Given the description of an element on the screen output the (x, y) to click on. 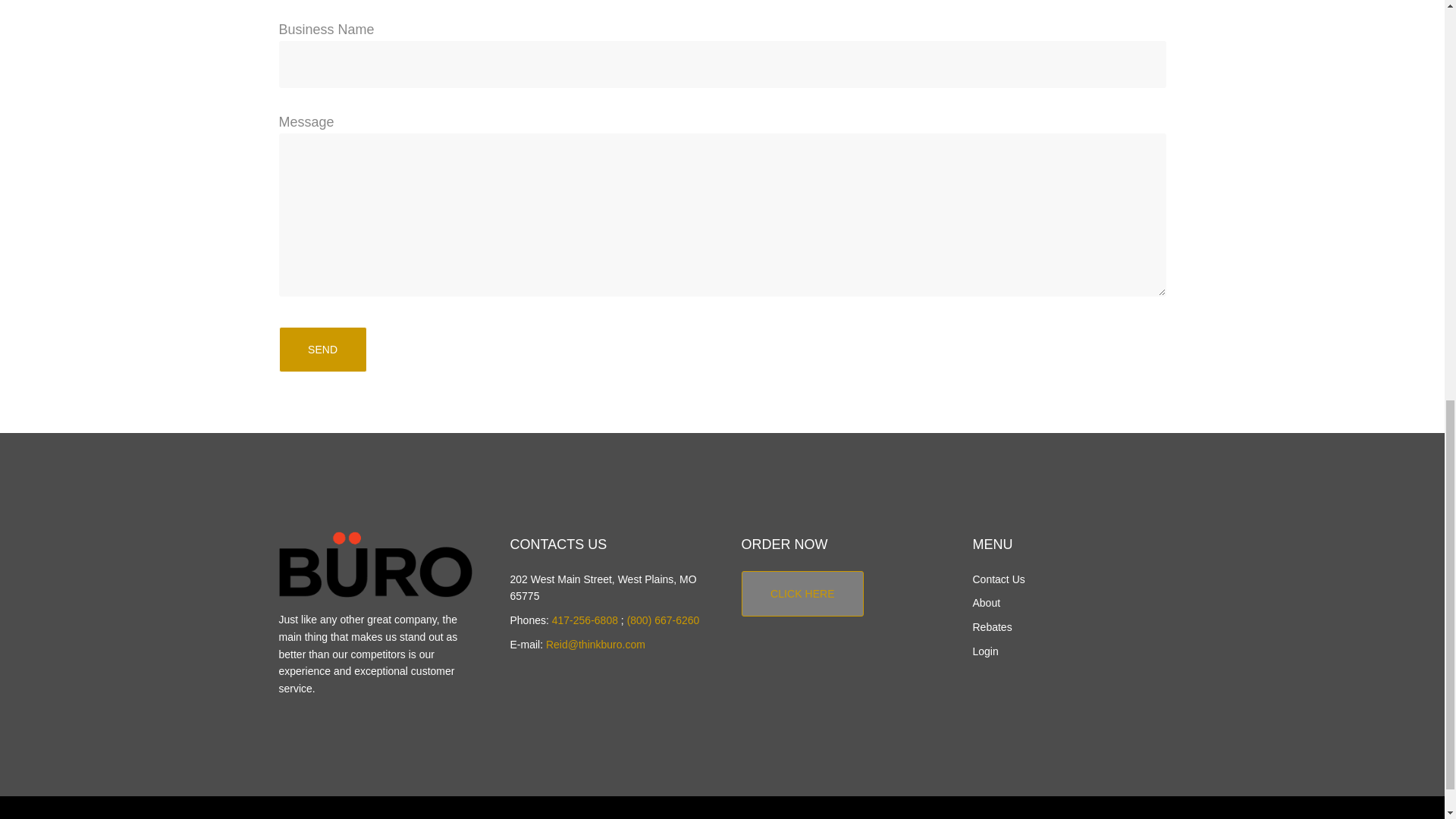
Rebates (991, 626)
CLICK HERE (802, 579)
CLICK HERE (802, 593)
Send (322, 348)
About (986, 603)
Login (984, 651)
Send (322, 348)
Contact Us (998, 579)
417-256-6808 (584, 620)
